Given the description of an element on the screen output the (x, y) to click on. 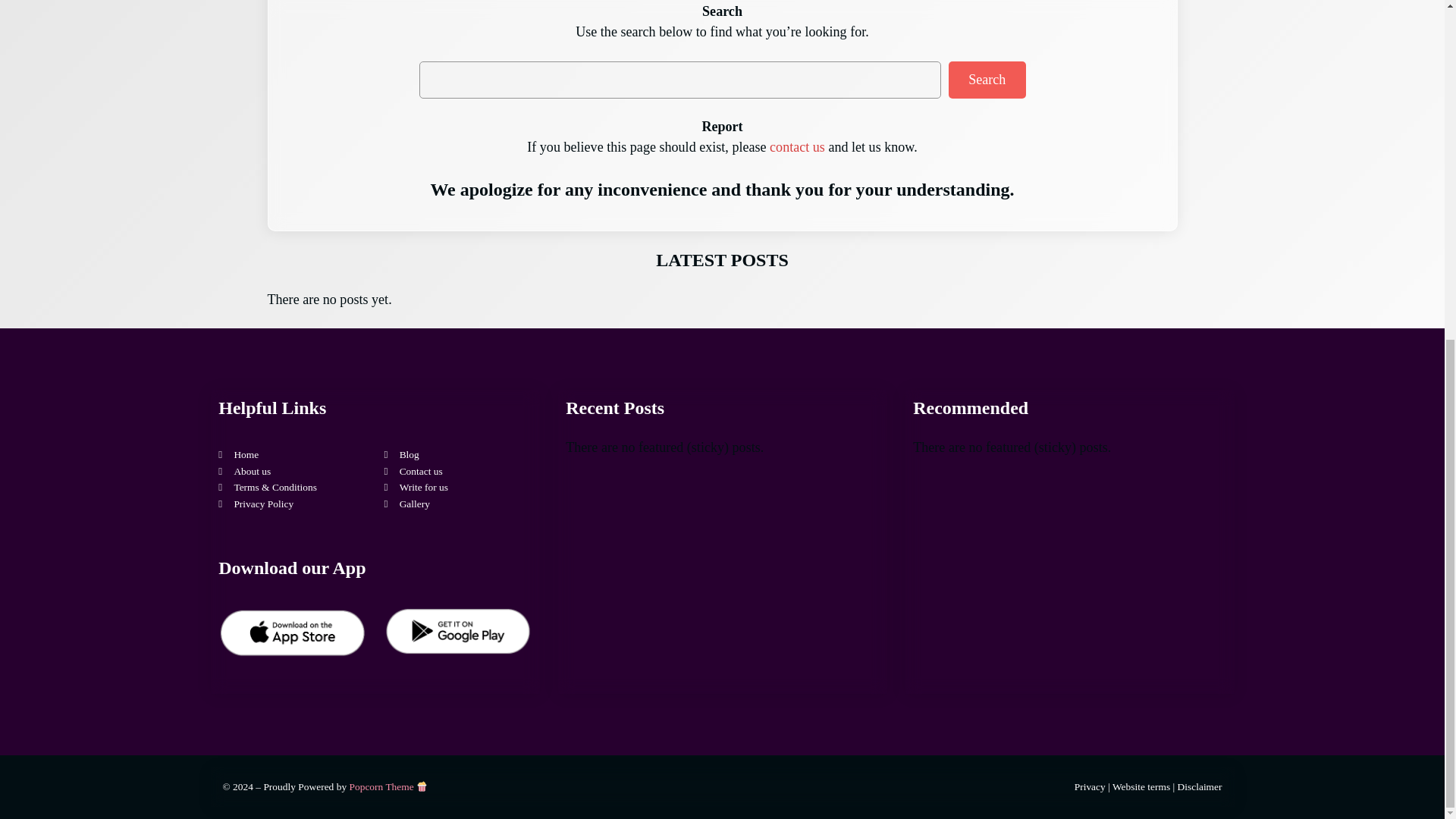
Blog (408, 454)
Disclaimer (1200, 786)
contact us (797, 146)
Privacy Policy (263, 503)
About us (251, 471)
Popcorn Theme (388, 786)
Home (245, 454)
Website terms (1141, 786)
Search (987, 79)
Contact us (420, 471)
